Given the description of an element on the screen output the (x, y) to click on. 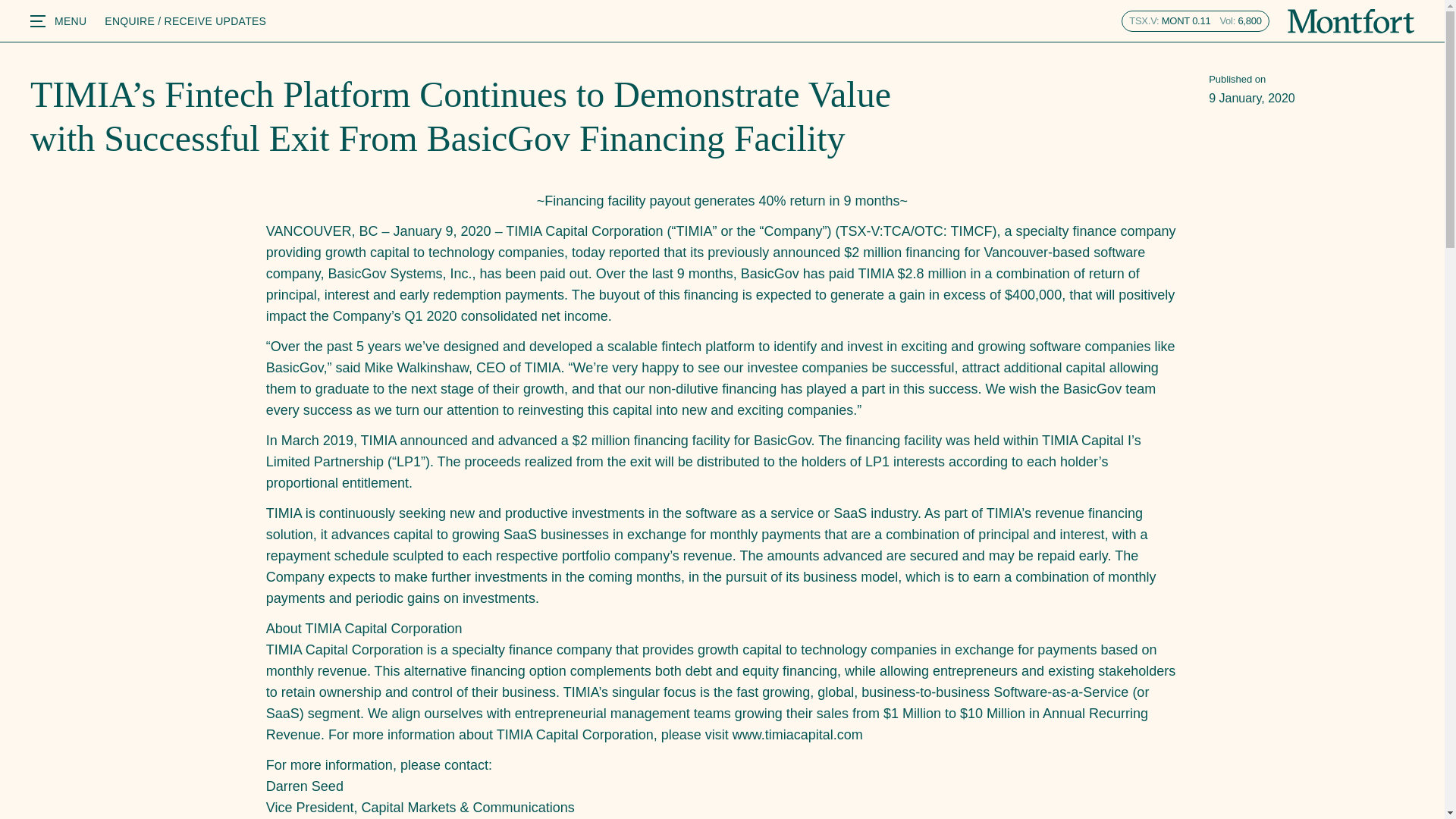
Terms (900, 594)
LinkedIn (1172, 594)
Twitter (1167, 617)
Investors (644, 642)
Shareholder Resources (683, 690)
About Us (644, 594)
Funds (636, 666)
Site by ONBOX (925, 642)
Our Companies (662, 617)
MENU (57, 21)
Privacy Policy (921, 617)
News (1194, 20)
